Given the description of an element on the screen output the (x, y) to click on. 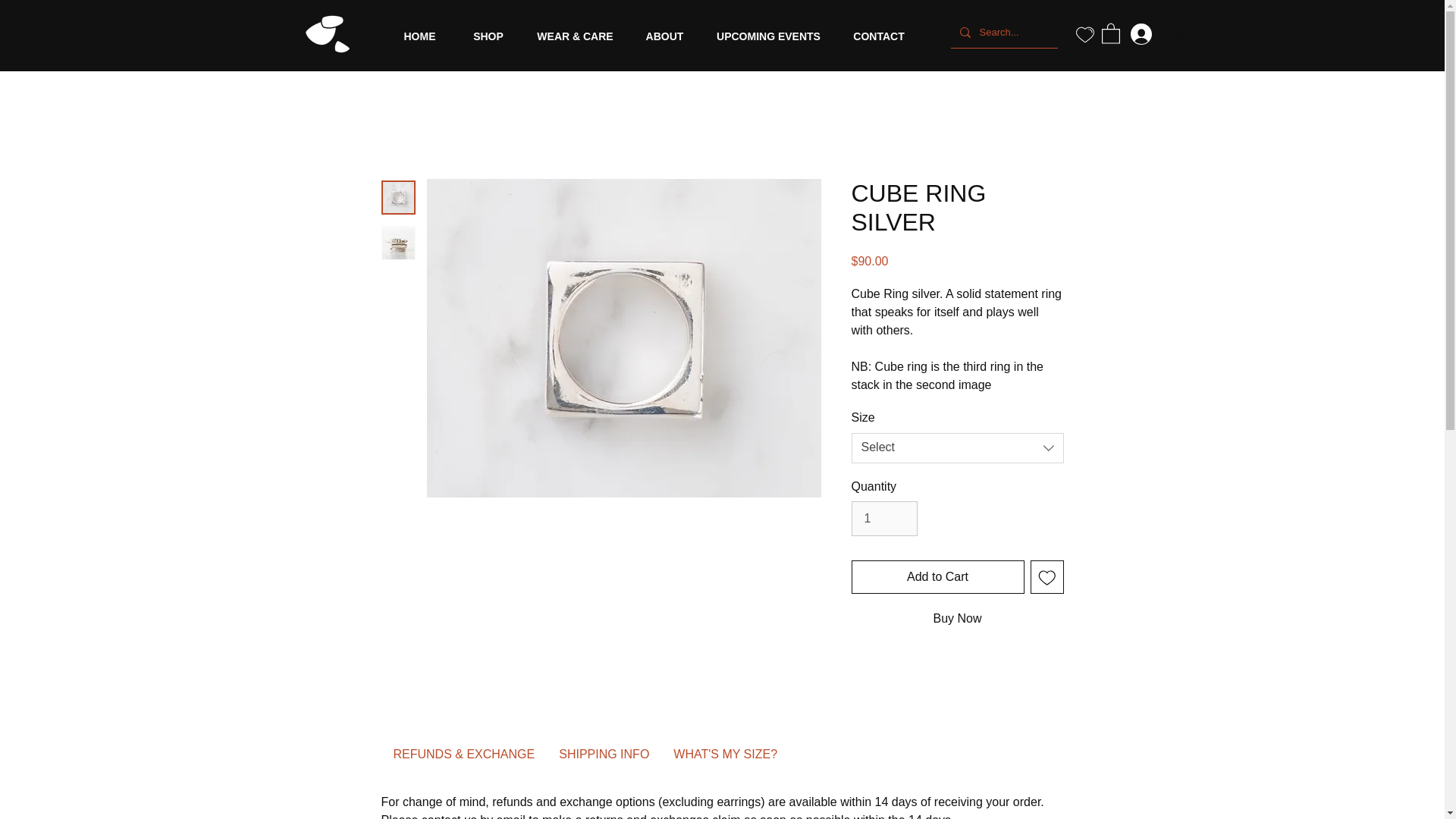
Use right and left arrows to navigate between tabs (603, 754)
Add to Cart (936, 576)
CONTACT (878, 36)
HOME (419, 36)
Buy Now (956, 618)
Select (956, 448)
1 (883, 518)
Log In (1151, 33)
UPCOMING EVENTS (767, 36)
SHOP (488, 36)
